Given the description of an element on the screen output the (x, y) to click on. 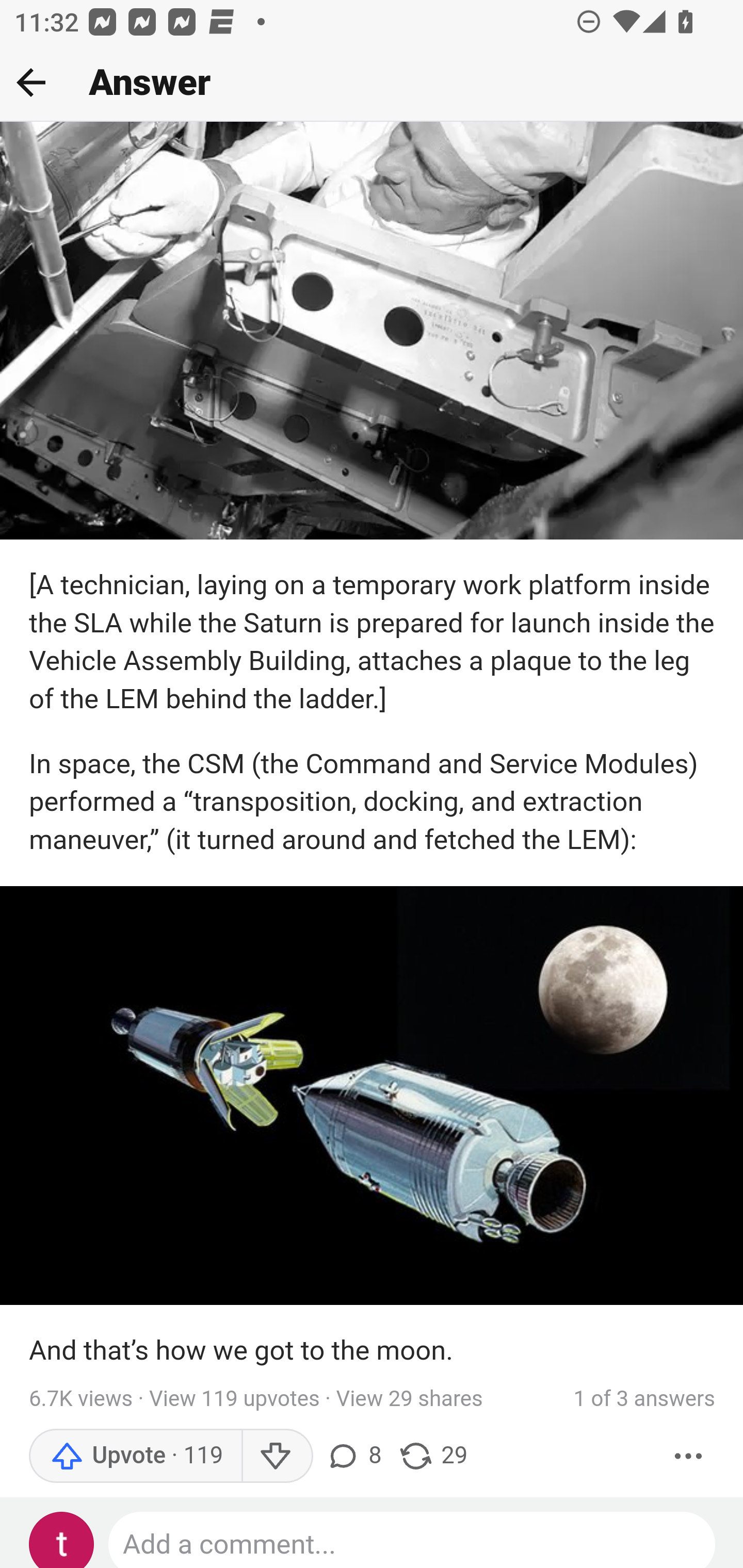
Back (30, 82)
main-qimg-60bce8ff6f0fcf453d592f6d50bc3e2b (371, 332)
main-qimg-92d0c5031a0e21e6e3d2770a73d0c4f9-lq (371, 1095)
View 119 upvotes (234, 1399)
View 29 shares (409, 1399)
1 of 3 answers (644, 1400)
Upvote (135, 1457)
Downvote (277, 1457)
8 comments (353, 1457)
29 shares (432, 1457)
More (688, 1457)
Profile photo for Test Appium (61, 1539)
Add a comment... (412, 1539)
